Given the description of an element on the screen output the (x, y) to click on. 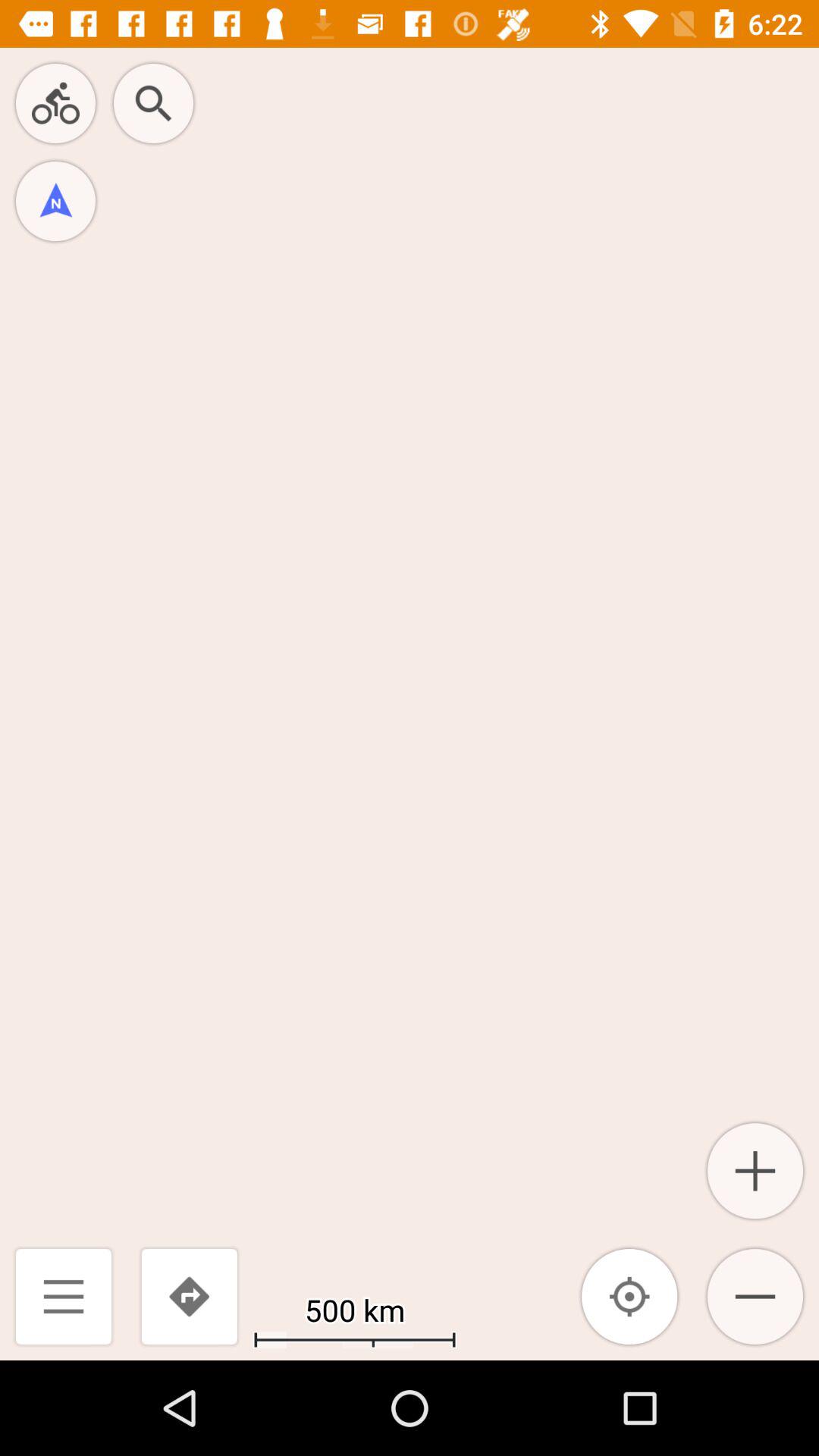
select the icon to the left of the 500 km icon (189, 1296)
